Given the description of an element on the screen output the (x, y) to click on. 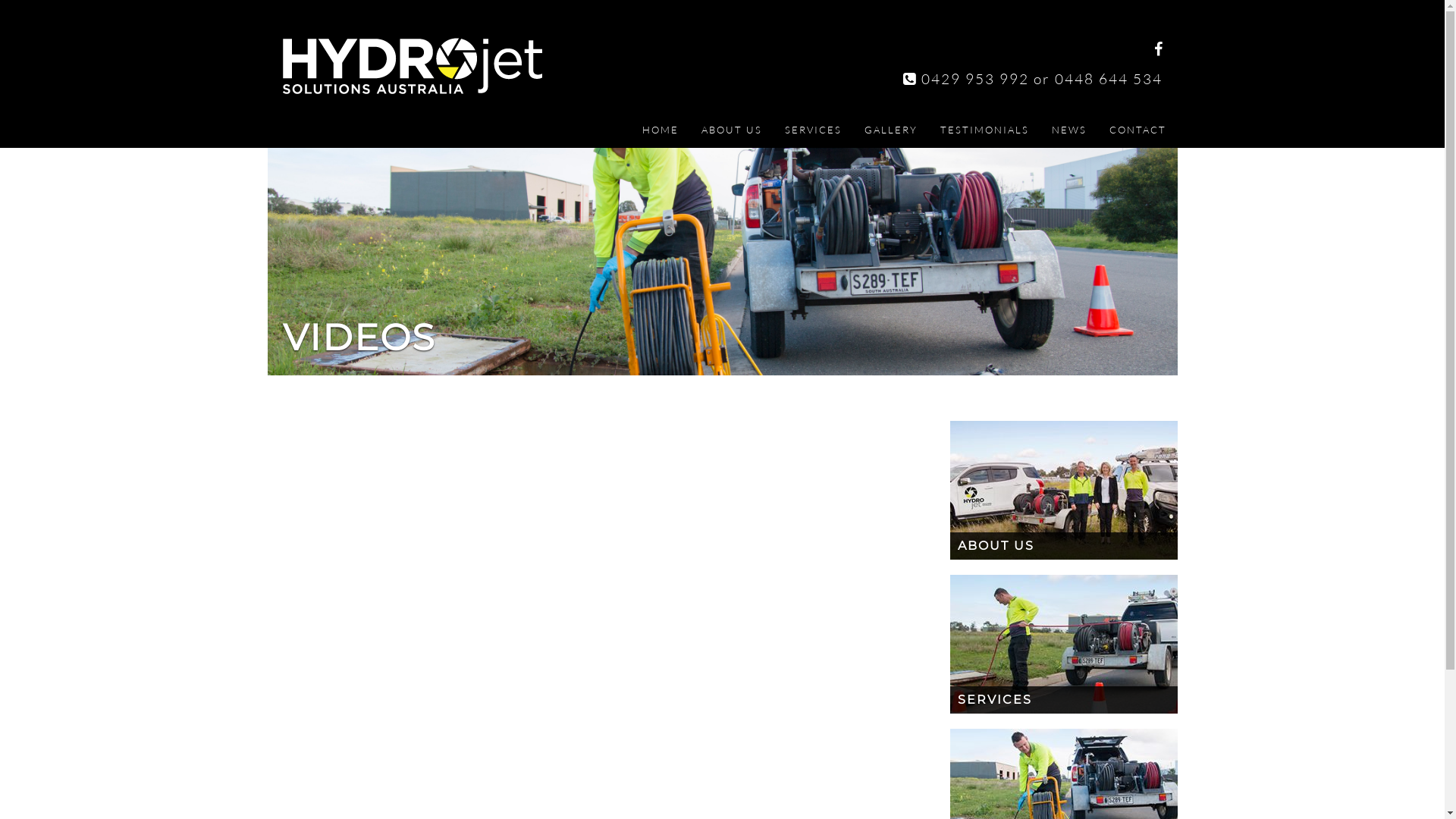
TESTIMONIALS Element type: text (983, 129)
HOME Element type: text (660, 129)
ABOUT US Element type: text (731, 129)
NEWS Element type: text (1069, 129)
ABOUT US Element type: text (1062, 489)
GALLERY Element type: text (890, 129)
CONTACT Element type: text (1137, 129)
SERVICES Element type: text (813, 129)
SERVICES Element type: text (1062, 643)
